Given the description of an element on the screen output the (x, y) to click on. 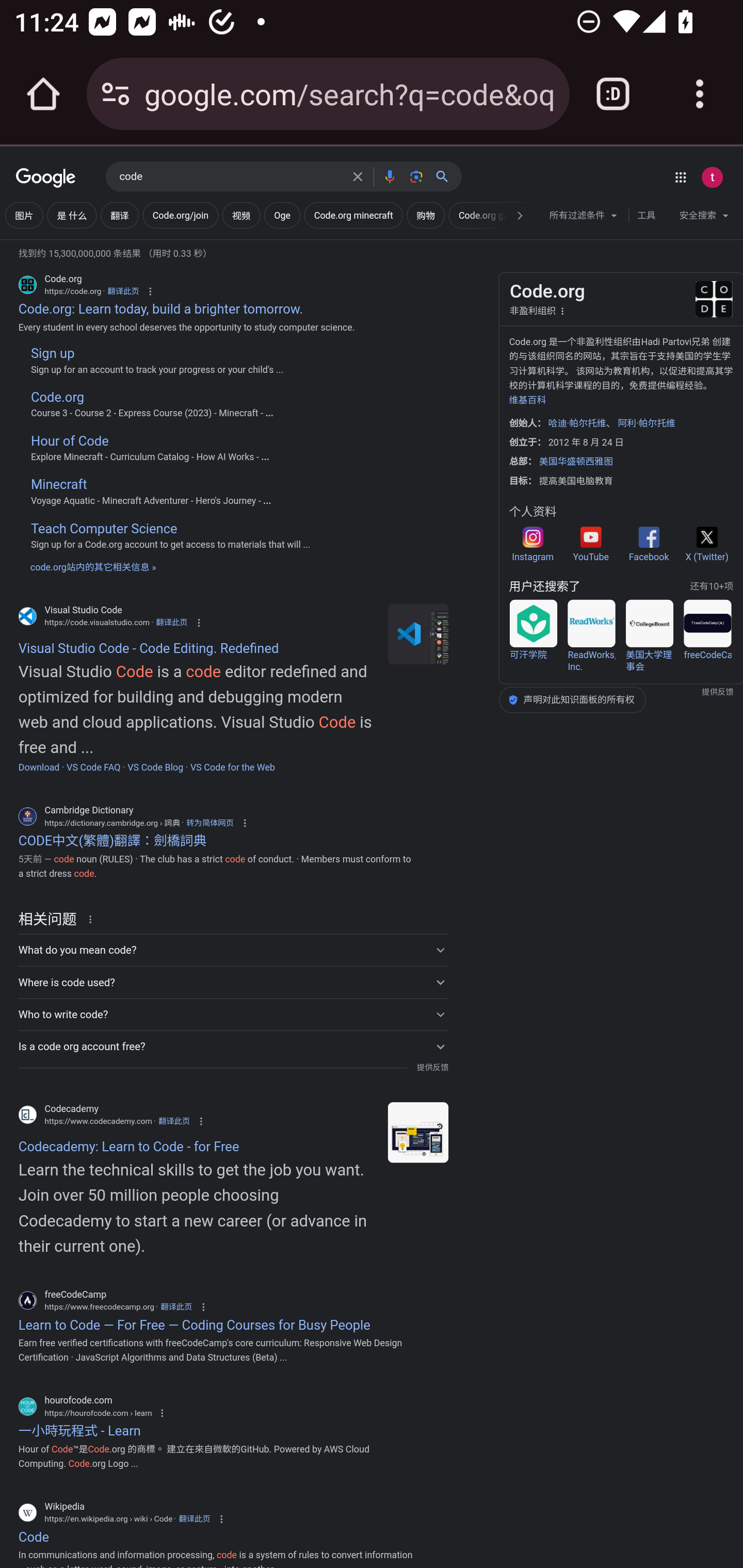
Open the home page (43, 93)
Connection is secure (115, 93)
Switch or close tabs (612, 93)
Customize and control Google Chrome (699, 93)
清除 (357, 176)
按语音搜索 (389, 176)
按图搜索 (415, 176)
搜索 (446, 176)
Google 应用 (680, 176)
Google 账号： test appium (testappium002@gmail.com) (712, 176)
Google (45, 178)
code (229, 177)
图片 (24, 215)
添加“是 什么” 是 什么 (71, 215)
添加“翻译” 翻译 (119, 215)
添加“Code.org/join” Code.org/join (180, 215)
视频 (241, 215)
添加“Oge” Oge (281, 215)
添加“Code.org minecraft” Code.org minecraft (353, 215)
购物 (425, 215)
添加“Code.org games” Code.org games (490, 215)
所有过滤条件 (583, 217)
工具 (646, 215)
安全搜索 (703, 217)
翻译此页 (122, 291)
Sign up Sign up Sign up (217, 353)
Code.org Code.org Code.org (217, 396)
Hour of Code Hour of Code Hour of Code (217, 441)
Minecraft Minecraft Minecraft (217, 484)
code.org站内的其它相关信息 » (92, 566)
code.visualstudio (417, 633)
翻译此页 (171, 622)
Download (38, 767)
VS Code FAQ (92, 767)
VS Code Blog (155, 767)
VS Code for the Web (232, 767)
转为简体网页 (209, 822)
关于这条结果的详细信息 (93, 918)
What do you mean code? (232, 949)
Where is code used? (232, 981)
Who to write code? (232, 1014)
Is a code org account free? (232, 1046)
提供反馈 (432, 1067)
www.codecademy (417, 1132)
翻译此页 (173, 1120)
翻译此页 (175, 1307)
翻译此页 (194, 1519)
